Given the description of an element on the screen output the (x, y) to click on. 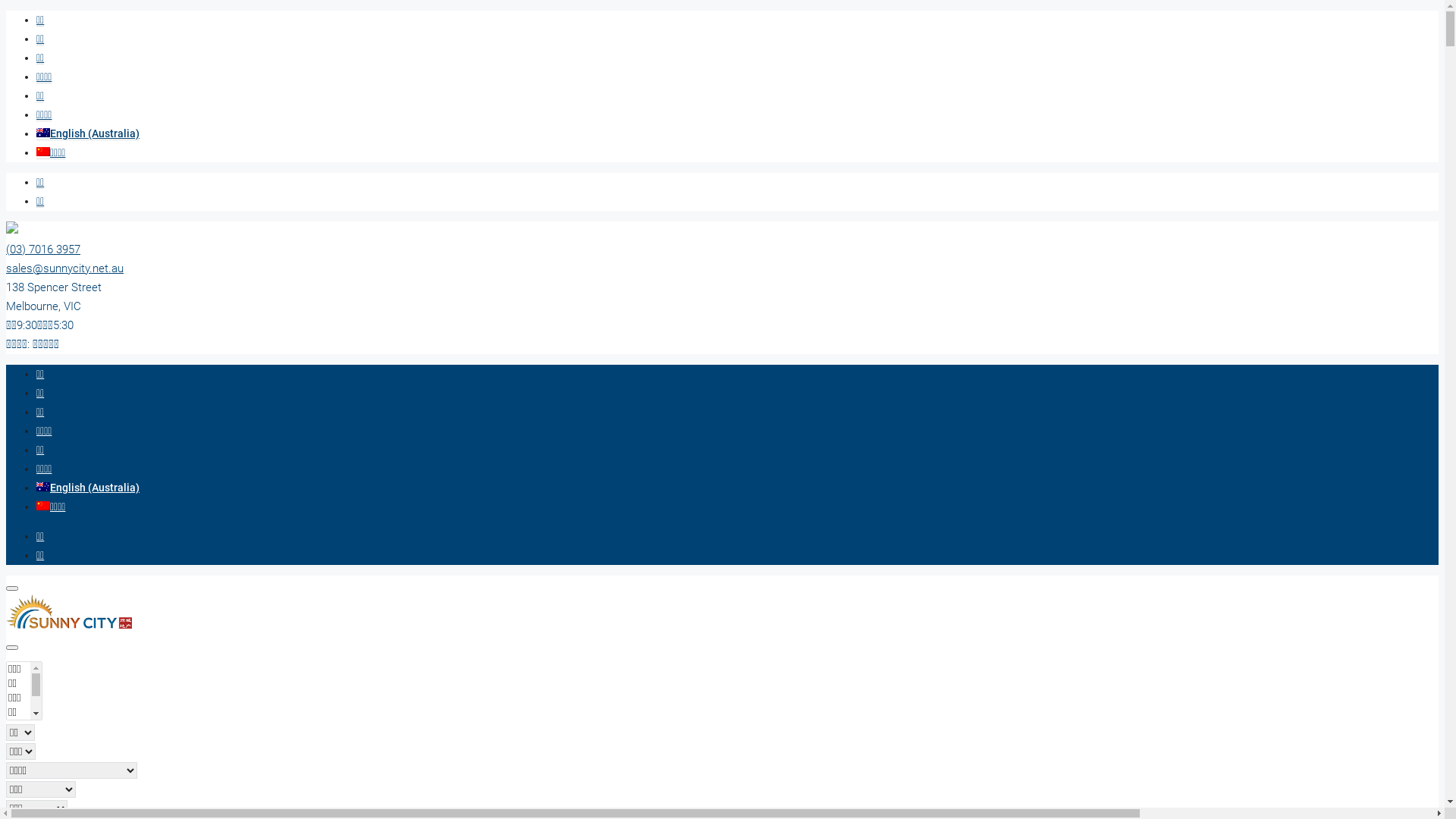
English (Australia) Element type: hover (43, 132)
English (Australia) Element type: text (87, 487)
(03) 7016 3957 Element type: text (43, 249)
English (Australia) Element type: hover (43, 486)
English (Australia) Element type: text (87, 133)
sales@sunnycity.net.au Element type: text (64, 268)
